Given the description of an element on the screen output the (x, y) to click on. 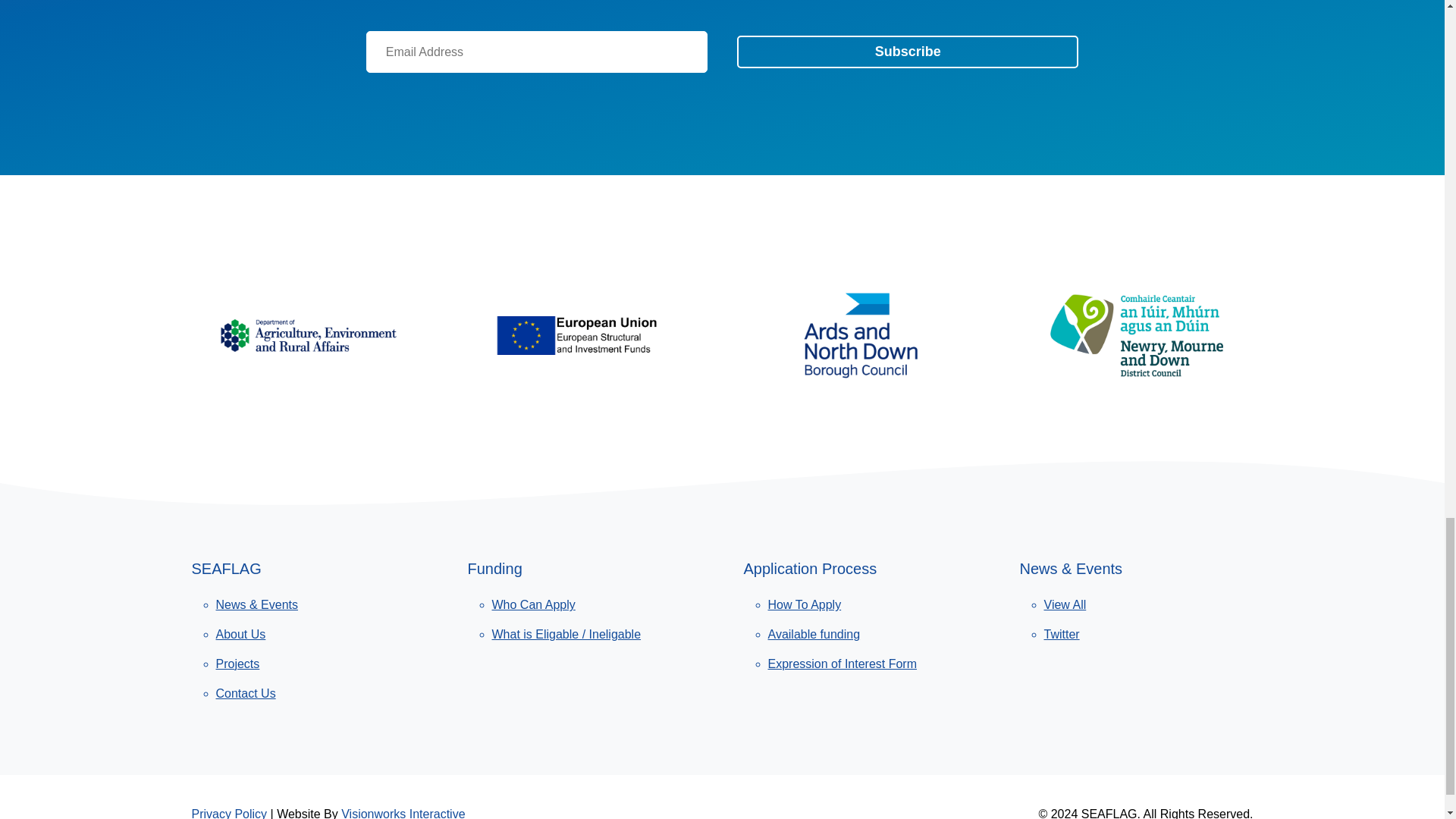
Projects (314, 664)
Expression of Interest Form (865, 664)
About Us (314, 635)
Available funding (865, 635)
Contact Us (314, 694)
How To Apply (865, 605)
Subscribe (907, 51)
Twitter (1141, 635)
Who Can Apply (589, 605)
Subscribe (907, 51)
View All (1141, 605)
